Given the description of an element on the screen output the (x, y) to click on. 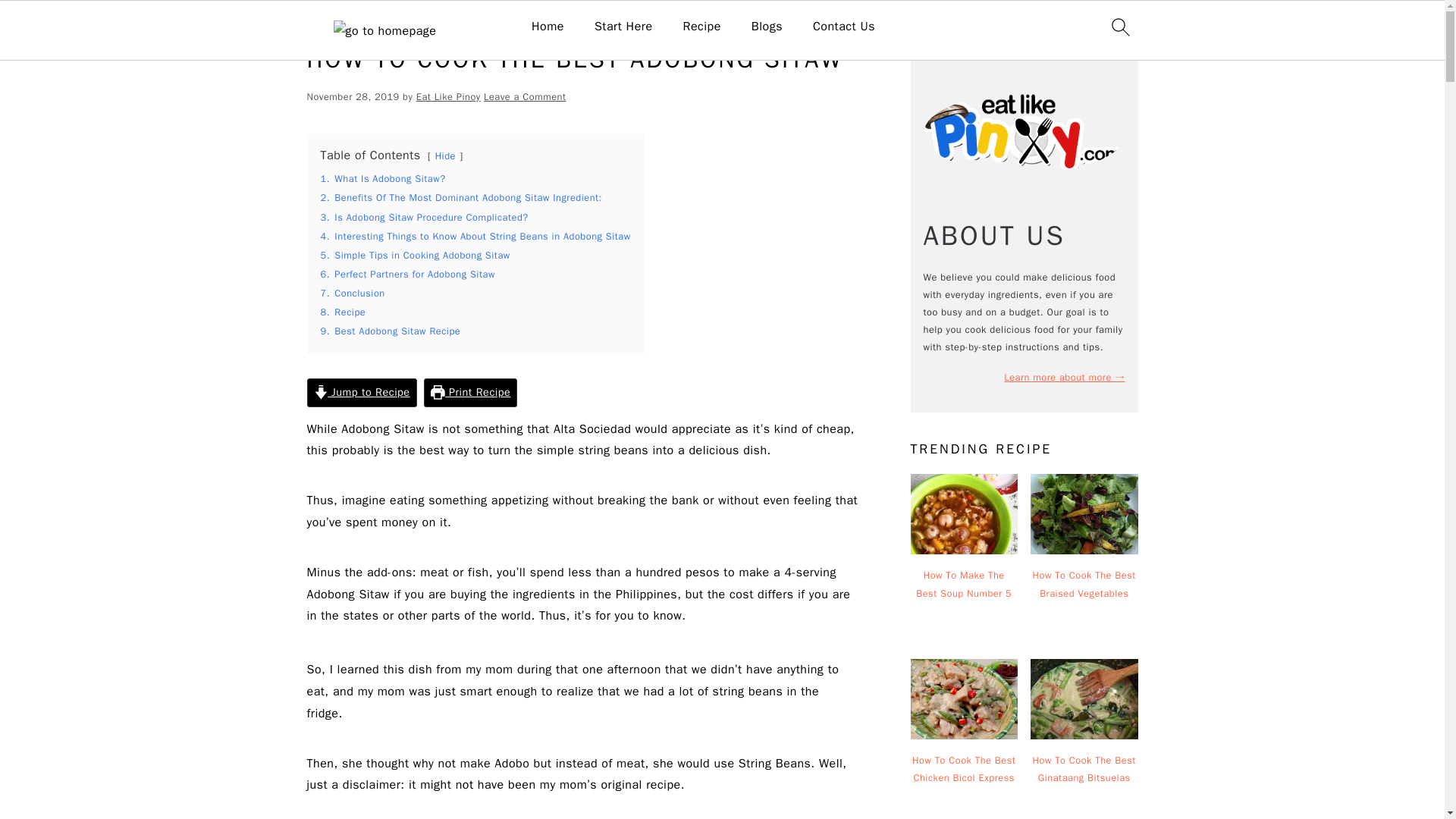
Recipes (363, 23)
Contact Us (843, 26)
1. What Is Adobong Sitaw? (382, 178)
2. Benefits Of The Most Dominant Adobong Sitaw Ingredient: (460, 197)
Hide (445, 155)
7. Conclusion (352, 293)
Start Here (623, 26)
3. Is Adobong Sitaw Procedure Complicated? (423, 217)
Home (319, 23)
Blogs (767, 26)
Leave a Comment (524, 96)
5. Simple Tips in Cooking Adobong Sitaw (414, 255)
8. Recipe (342, 312)
Recipe (409, 23)
